Given the description of an element on the screen output the (x, y) to click on. 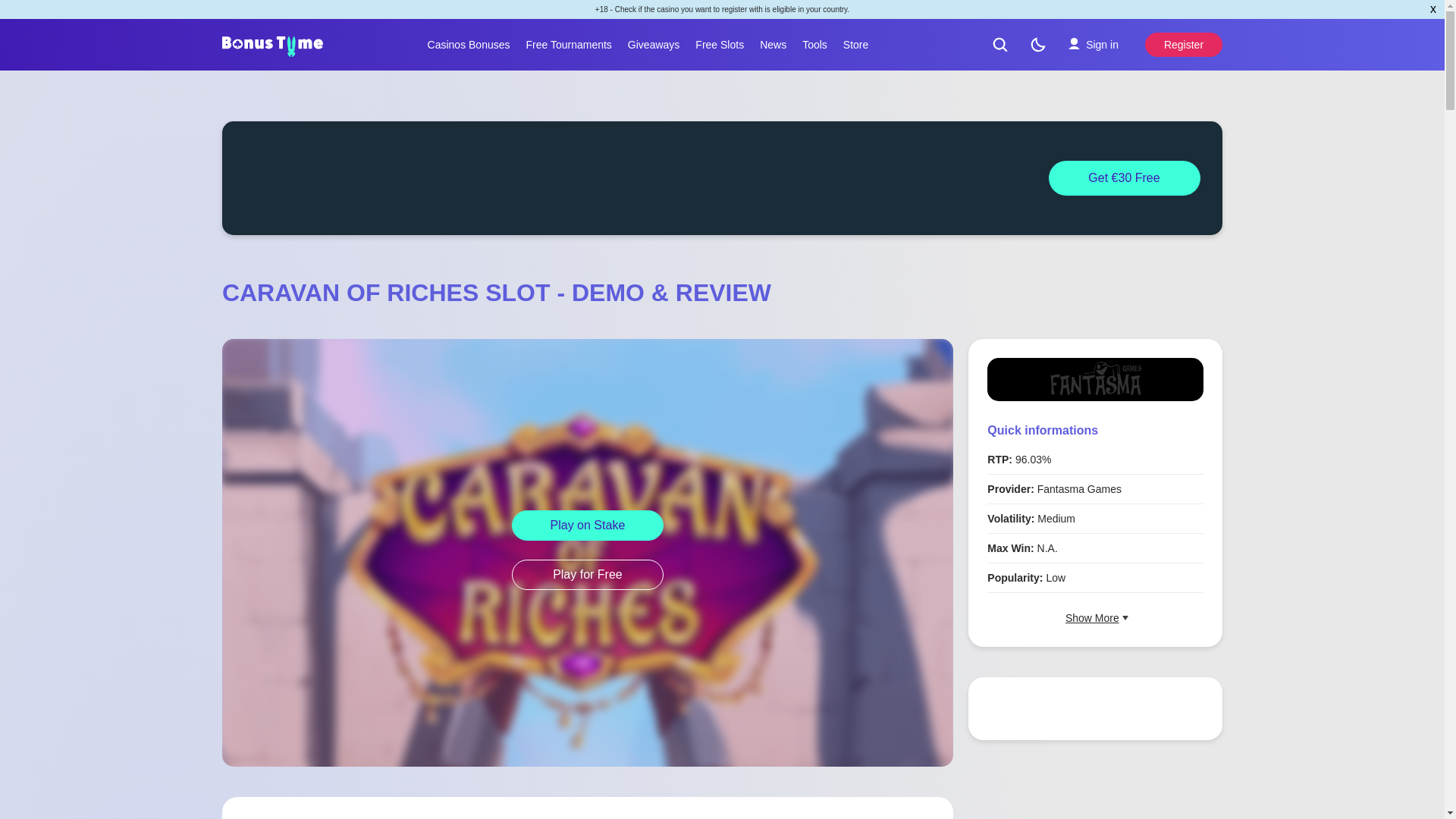
Casinos Bonuses (469, 43)
Sign in (1093, 43)
Free Tournaments (568, 43)
Register (1183, 43)
Giveaways (653, 43)
Free Slots (718, 43)
